Given the description of an element on the screen output the (x, y) to click on. 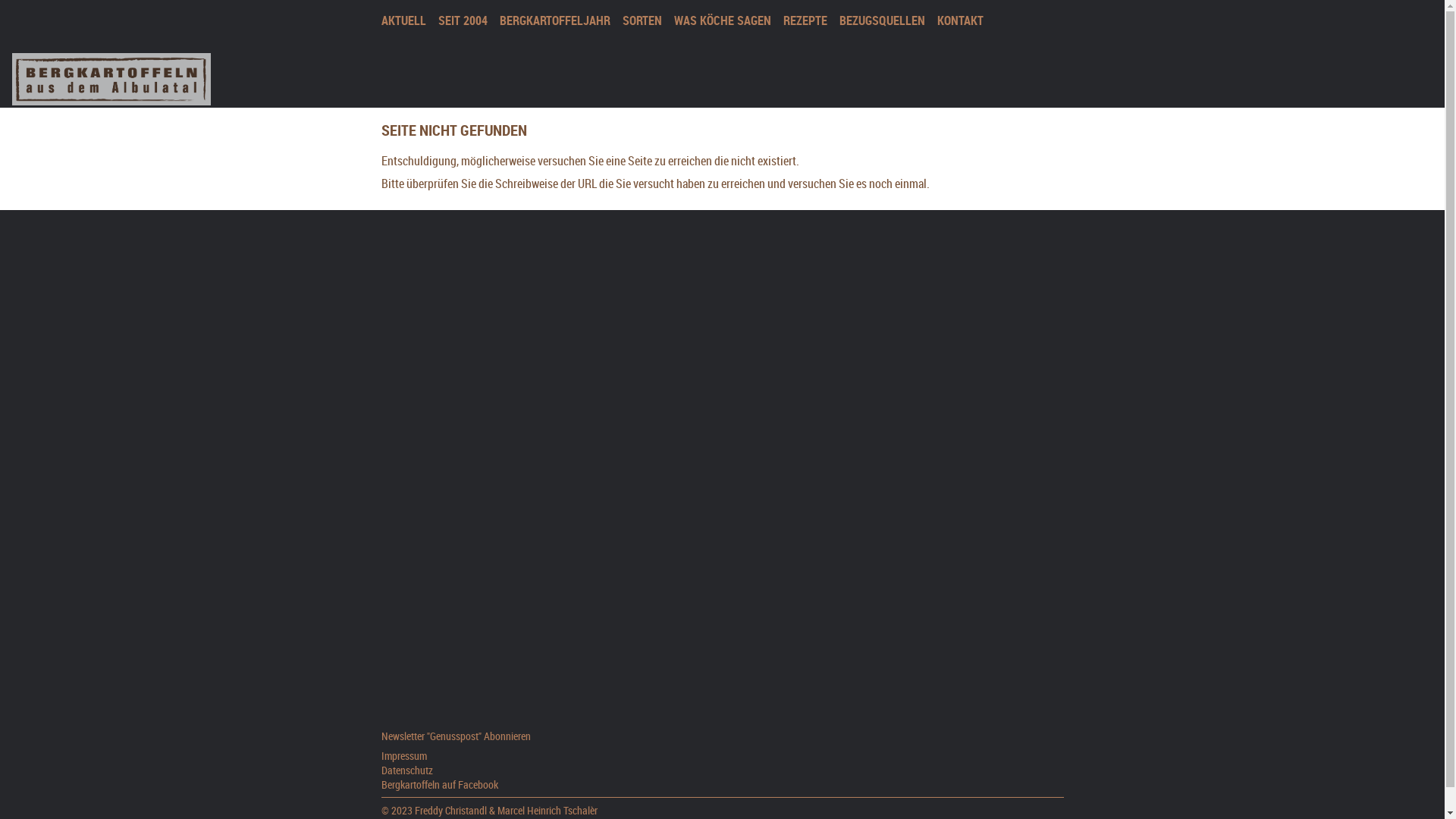
Datenschutz Element type: text (406, 769)
Impressum Element type: text (403, 755)
SEIT 2004 Element type: text (462, 20)
BEZUGSQUELLEN Element type: text (881, 20)
Bergkartoffeln auf Facebook Element type: text (438, 784)
SORTEN Element type: text (641, 20)
KONTAKT Element type: text (960, 20)
REZEPTE Element type: text (804, 20)
AKTUELL Element type: text (402, 20)
Newsletter "Genusspost" Abonnieren Element type: text (455, 735)
BERGKARTOFFELJAHR Element type: text (553, 20)
